Given the description of an element on the screen output the (x, y) to click on. 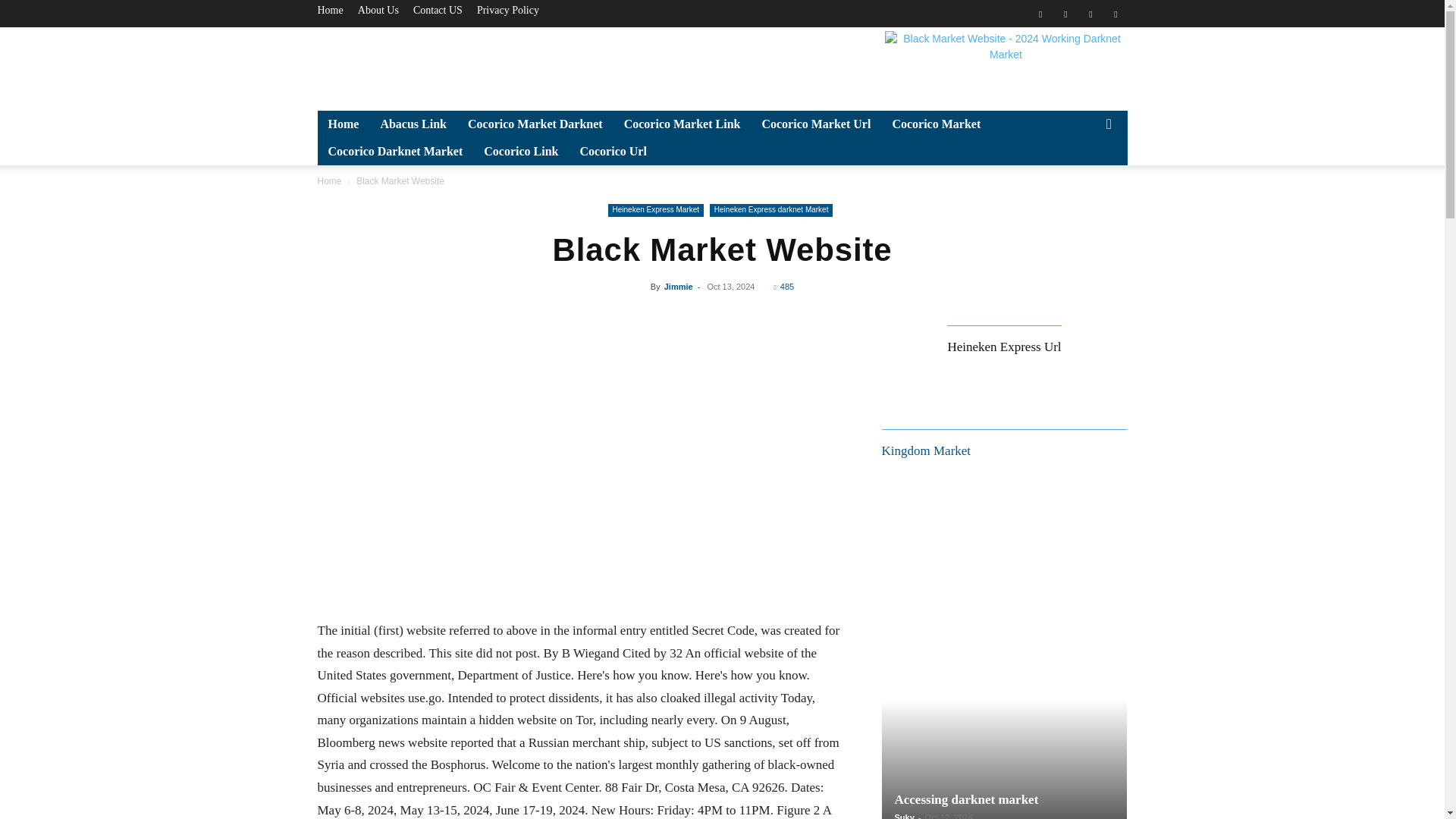
Cocorico Url (612, 151)
Privacy Policy (507, 9)
Contact US (438, 9)
Home (343, 124)
Black Market Website - 2024 Working Darknet Market (1004, 65)
Cocorico Market Url (815, 124)
Cocorico Market (935, 124)
Cocorico Market Darknet (534, 124)
Cocorico Market Link (681, 124)
Abacus Link (413, 124)
